Given the description of an element on the screen output the (x, y) to click on. 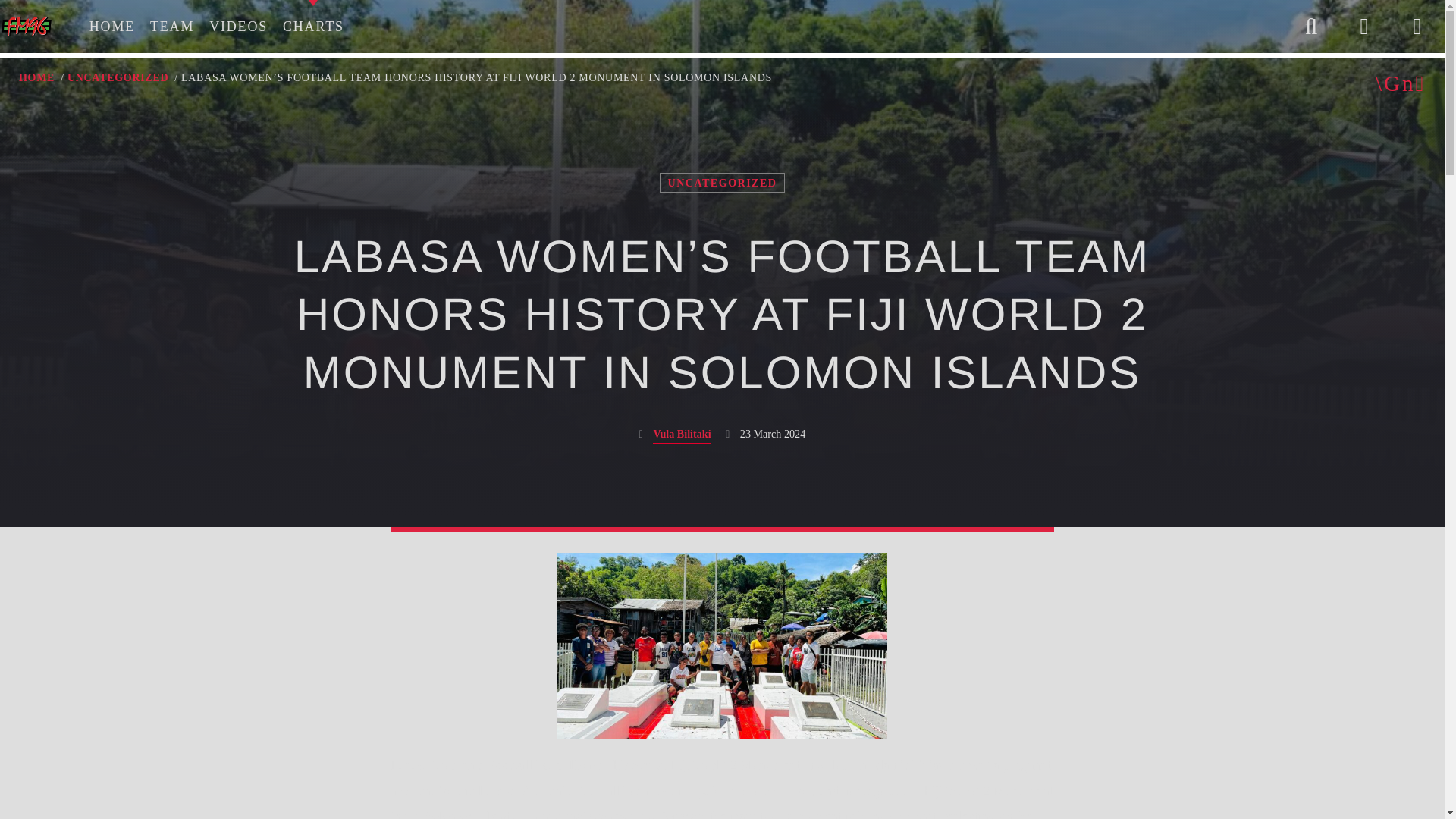
VIDEOS (238, 26)
UNCATEGORIZED (117, 77)
UNCATEGORIZED (722, 182)
Posts by Vula Bilitaki (681, 435)
Vula Bilitaki (681, 435)
HOME (111, 26)
HOME (36, 77)
TEAM (172, 26)
CHARTS (313, 26)
